Given the description of an element on the screen output the (x, y) to click on. 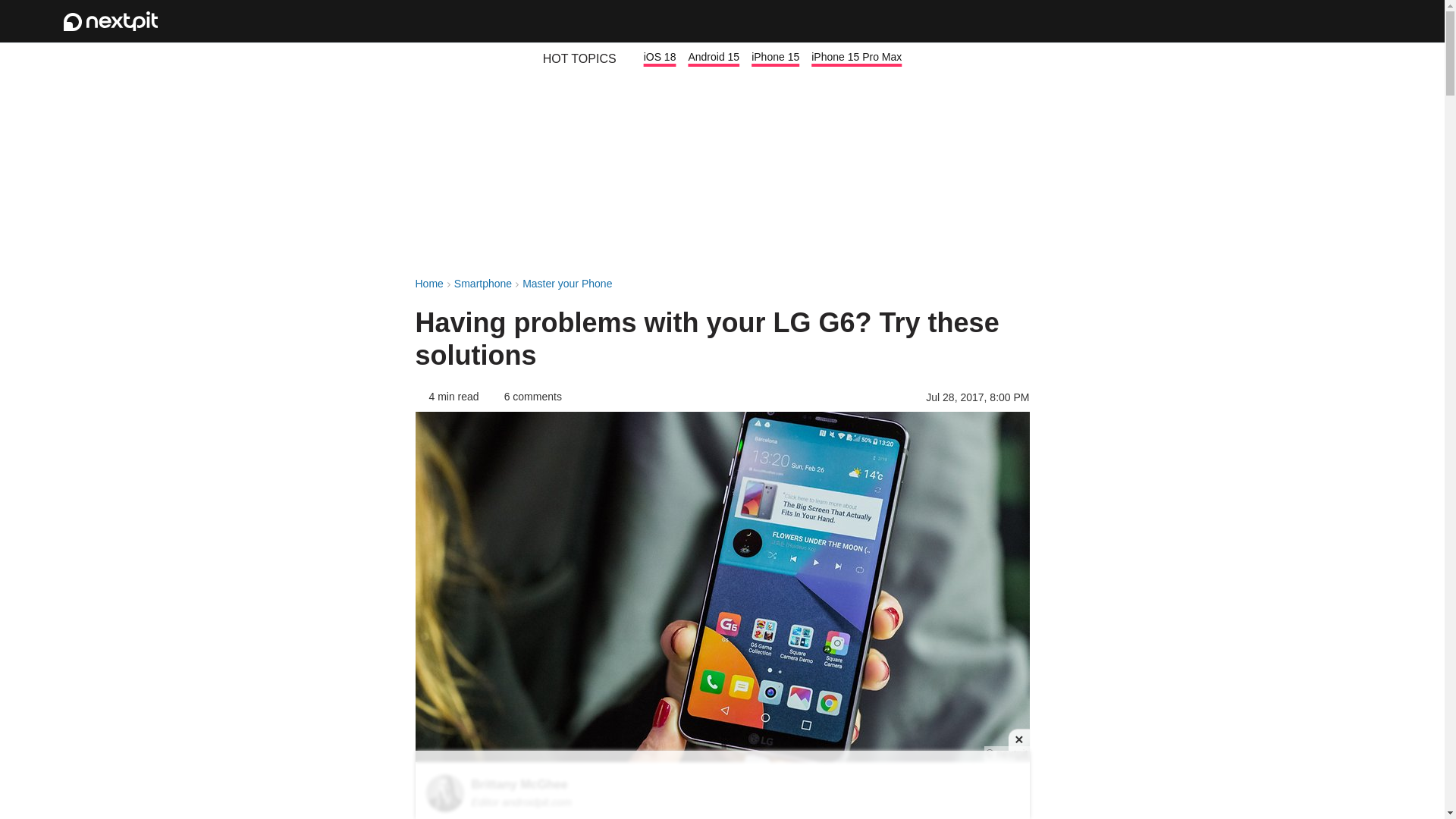
Login (1321, 21)
4 min read (446, 396)
Jul 28, 2017, 8:00:00 PM (977, 397)
To the nextpit homepage (110, 21)
